Given the description of an element on the screen output the (x, y) to click on. 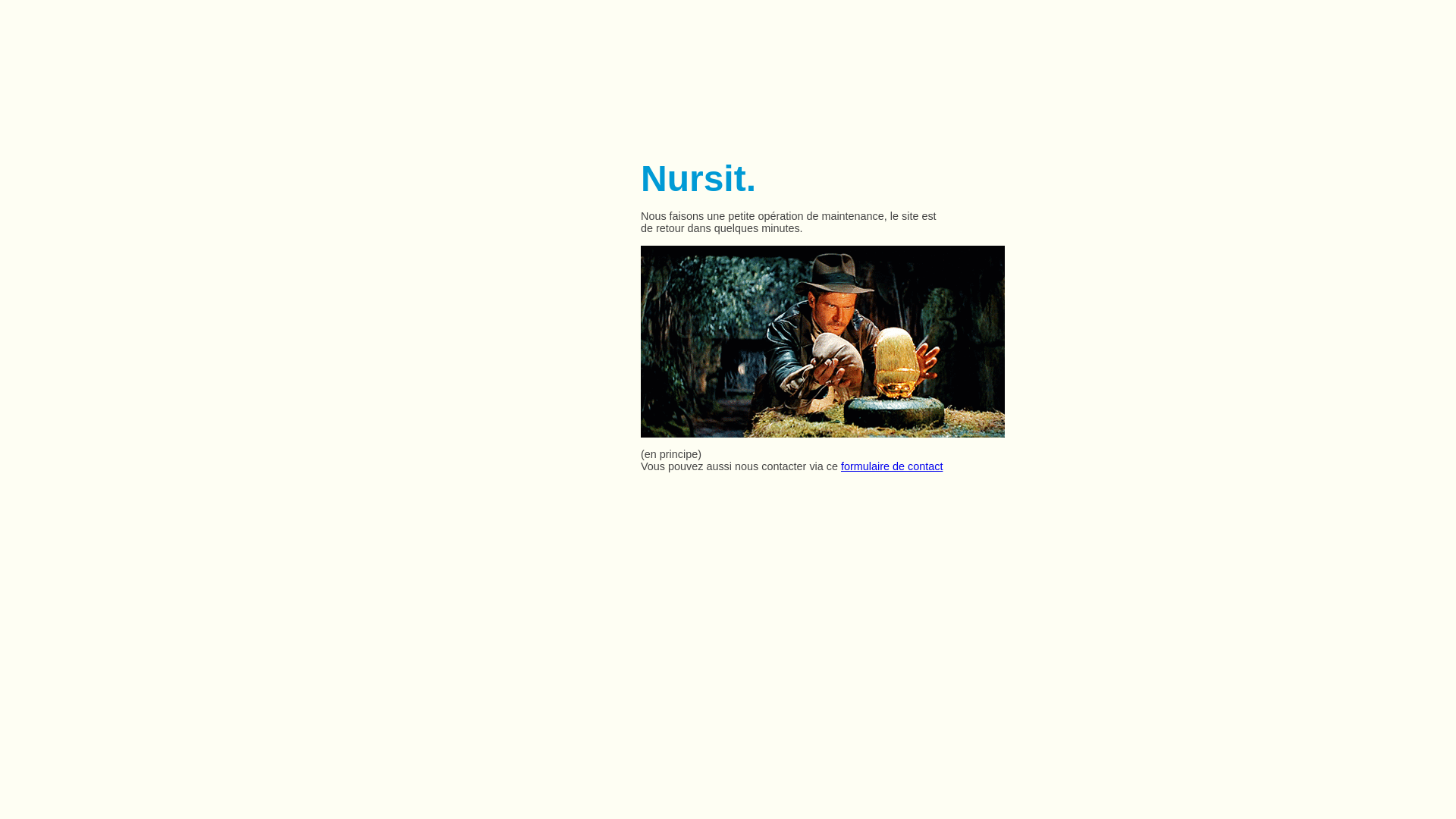
formulaire de contact Element type: text (891, 466)
